Given the description of an element on the screen output the (x, y) to click on. 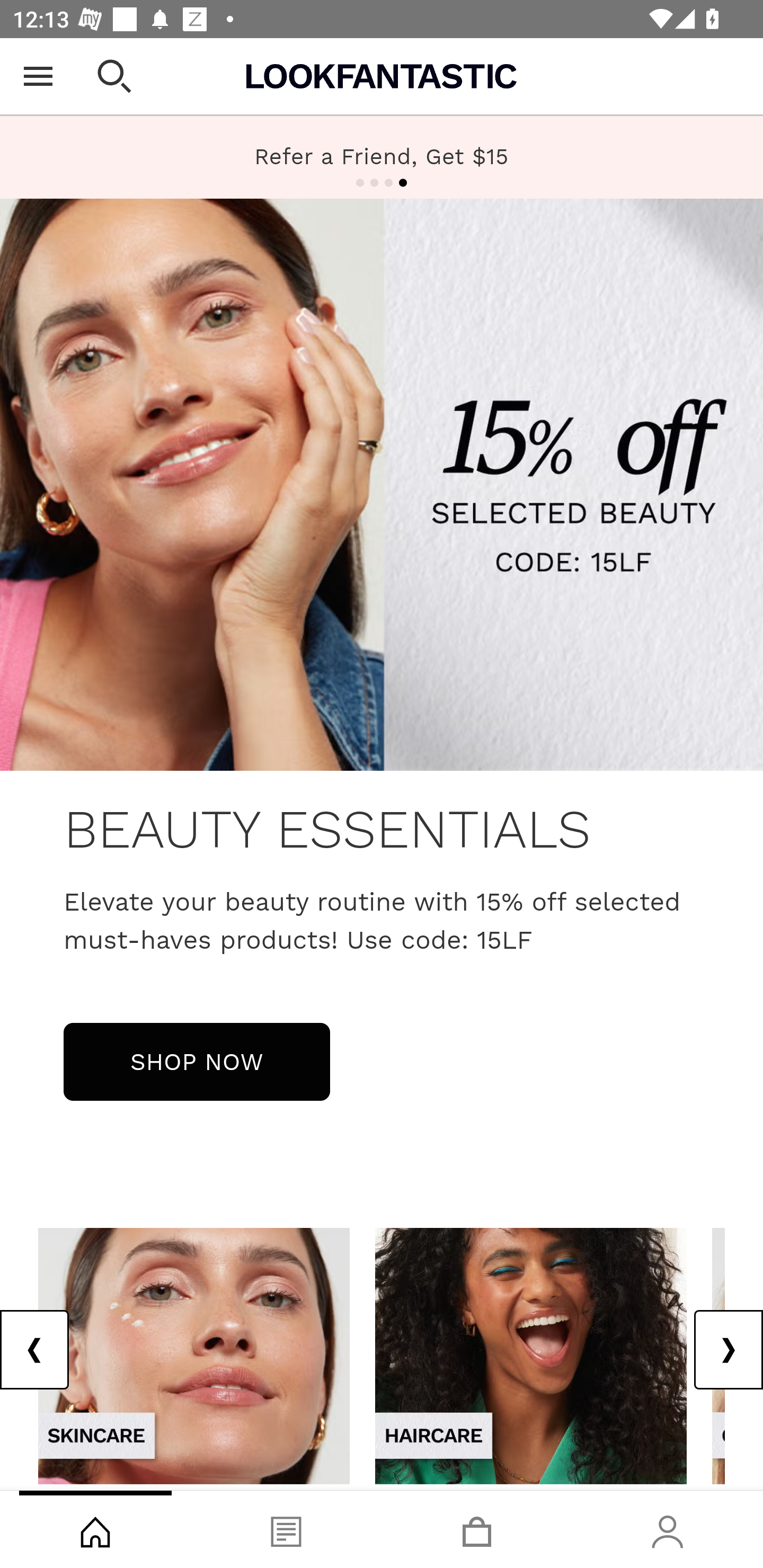
Open Menu (38, 75)
Open search (114, 75)
Lookfantastic USA (381, 75)
SHOP NOW (196, 1061)
view-all (193, 1355)
view-all (530, 1355)
Previous (35, 1349)
Next (727, 1349)
Shop, tab, 1 of 4 (95, 1529)
Blog, tab, 2 of 4 (285, 1529)
Basket, tab, 3 of 4 (476, 1529)
Account, tab, 4 of 4 (667, 1529)
